Given the description of an element on the screen output the (x, y) to click on. 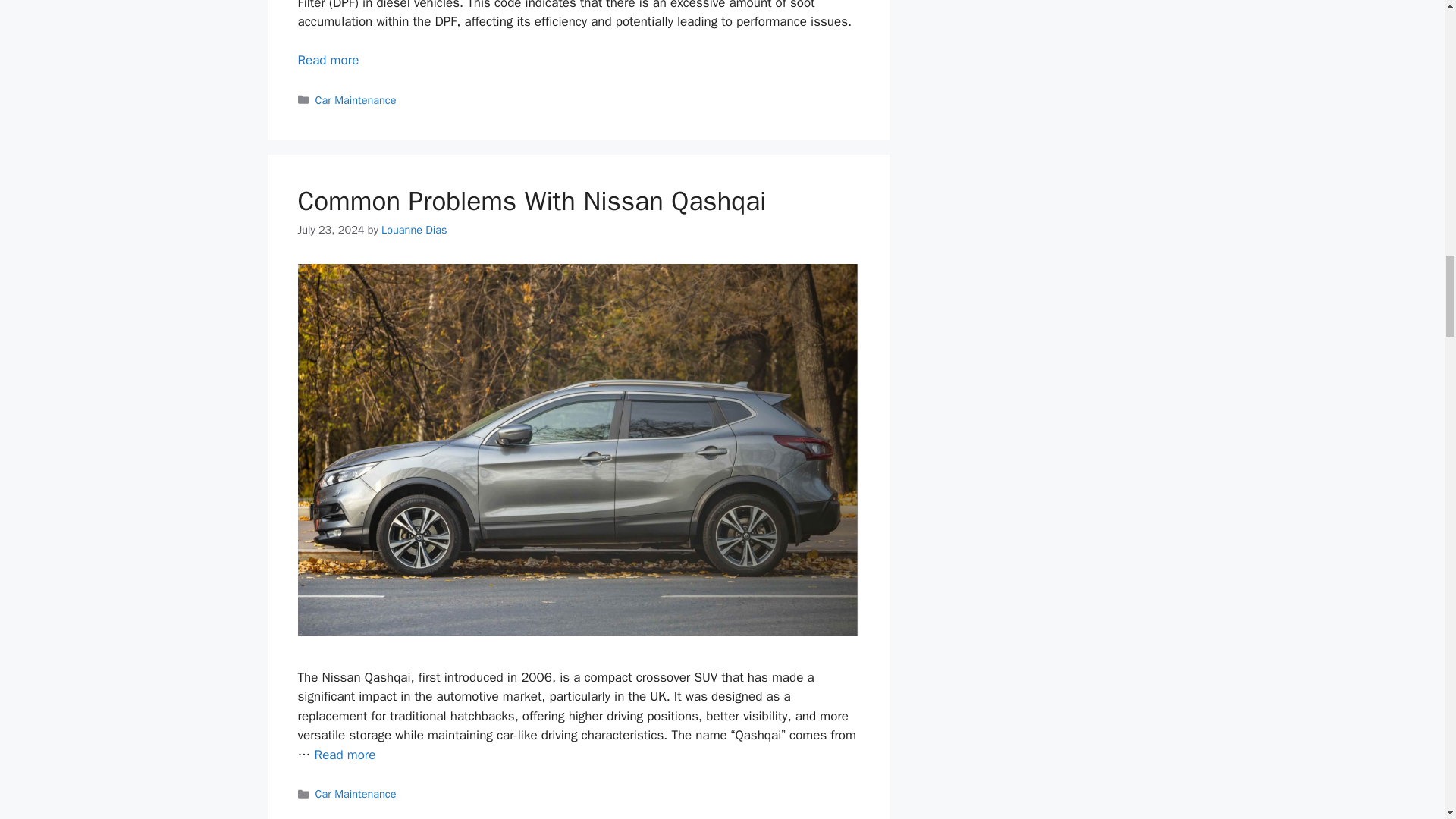
What does OBD-II fault code P2463 mean? (327, 59)
View all posts by Louanne Dias (413, 229)
Common Problems With Nissan Qashqai (344, 754)
